Given the description of an element on the screen output the (x, y) to click on. 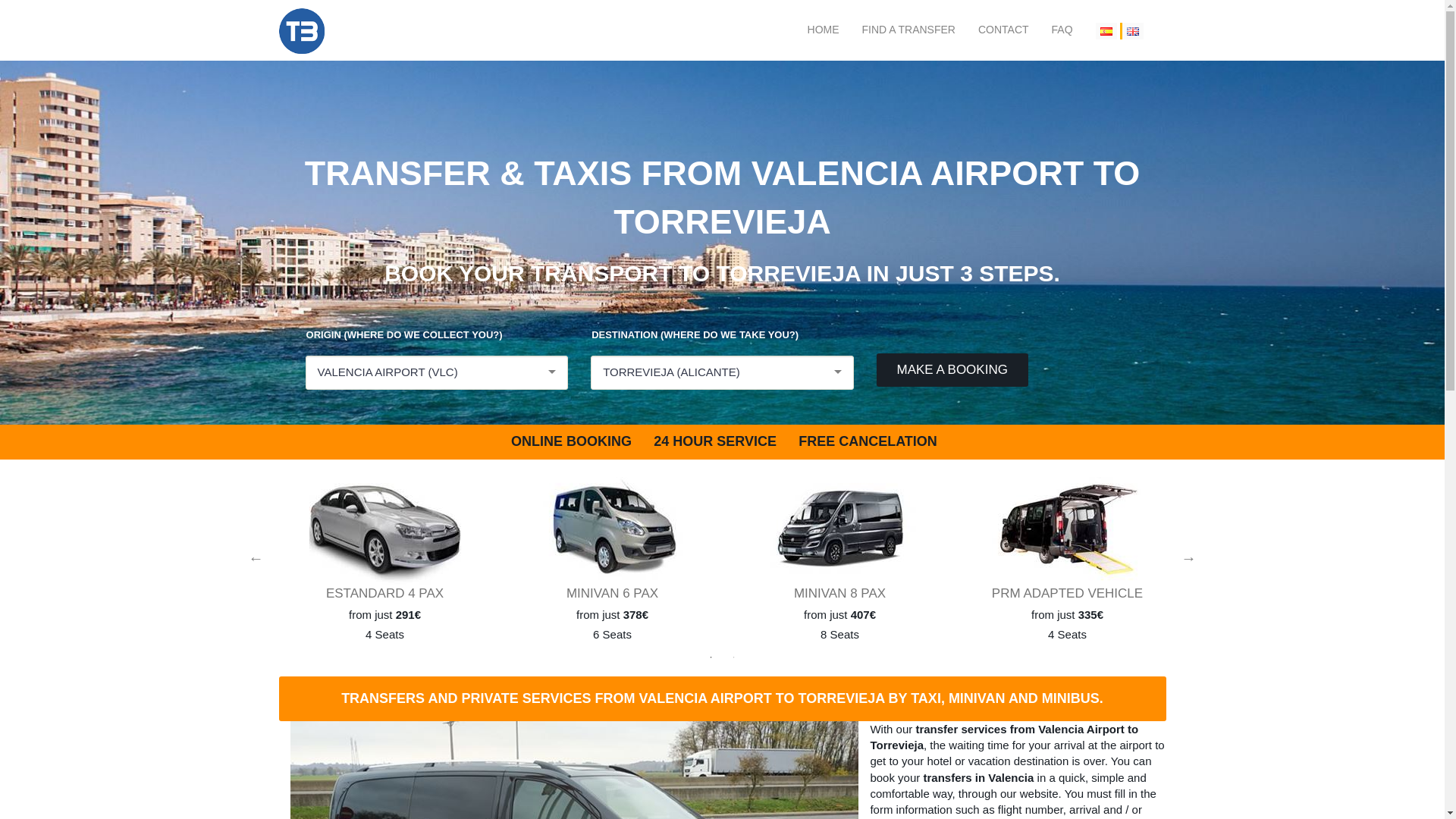
Make a booking (951, 369)
HOME (824, 29)
Contact (1003, 29)
FAQ (1062, 29)
www.transferbenidorm.com (301, 31)
Find a transfer (908, 29)
CONTACT (1003, 29)
NEXT (1188, 557)
Make a booking (951, 369)
PREVIOUS (255, 557)
Free cancellation up to 24 hours before the service. (865, 441)
2 (733, 657)
FIND A TRANSFER (908, 29)
Home (824, 29)
1 (711, 657)
